Given the description of an element on the screen output the (x, y) to click on. 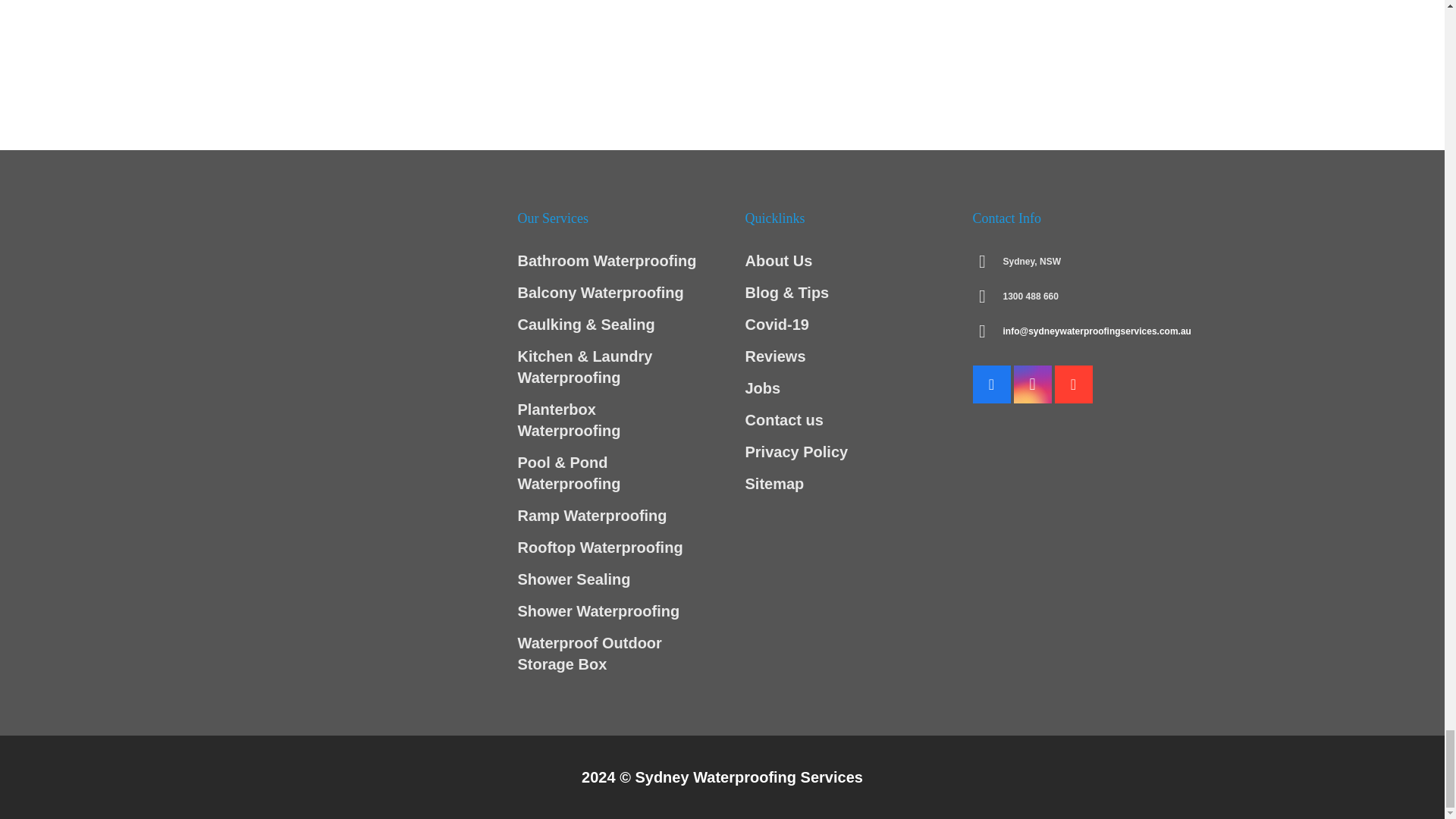
Facebook (991, 384)
Google (1073, 384)
Bathroom Waterproofing (605, 260)
Balcony Waterproofing (599, 292)
Instagram (1032, 384)
